Given the description of an element on the screen output the (x, y) to click on. 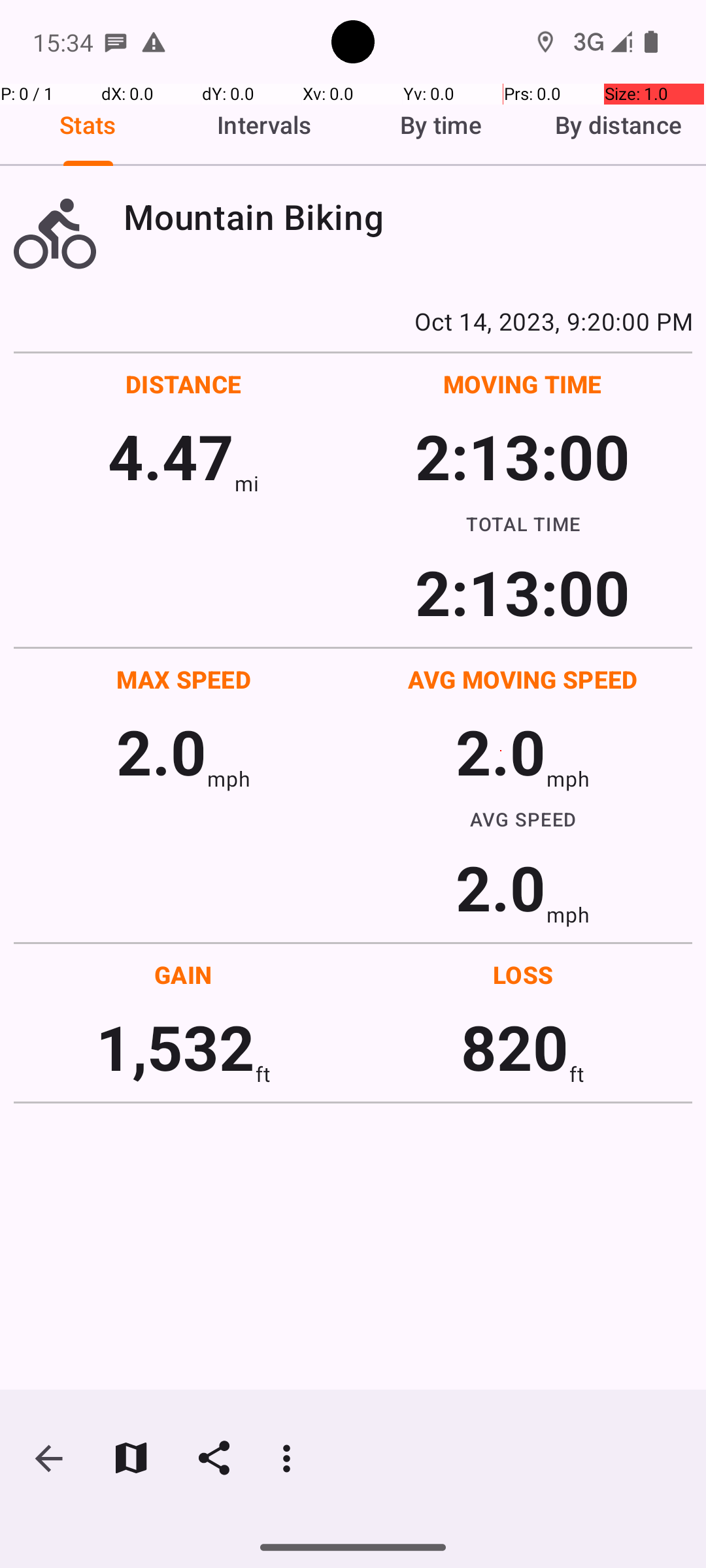
Mountain Biking Element type: android.widget.TextView (407, 216)
Oct 14, 2023, 9:20:00 PM Element type: android.widget.TextView (352, 320)
4.47 Element type: android.widget.TextView (170, 455)
2:13:00 Element type: android.widget.TextView (522, 455)
2.0 Element type: android.widget.TextView (161, 750)
1,532 Element type: android.widget.TextView (175, 1045)
820 Element type: android.widget.TextView (514, 1045)
